Given the description of an element on the screen output the (x, y) to click on. 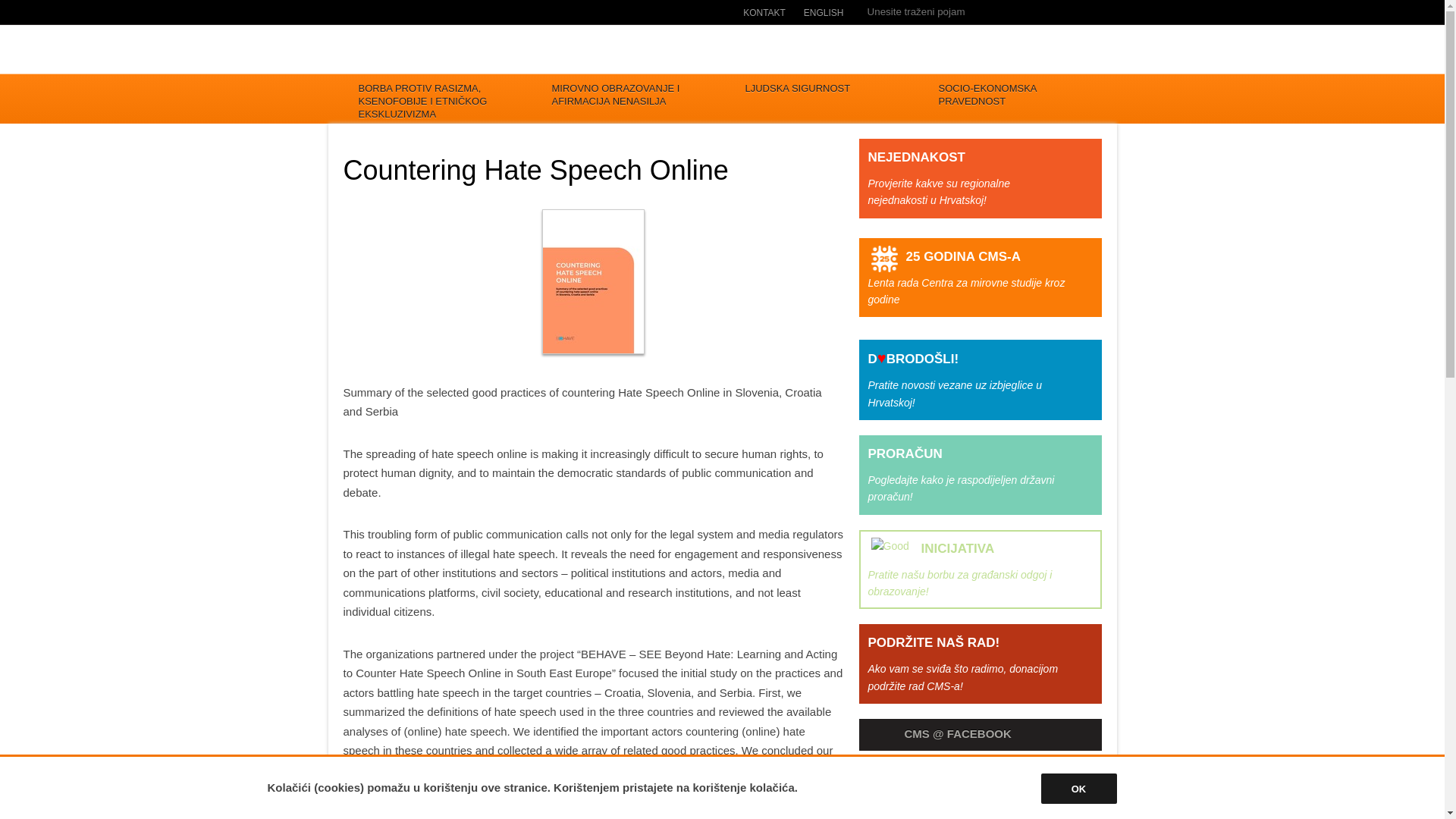
SOCIO-EKONOMSKA PRAVEDNOST (1019, 98)
KONTAKT (764, 12)
NOVOSTI (664, 48)
O NAMA (567, 48)
MULTIMEDIJA (774, 48)
LJUDSKA SIGURNOST (826, 98)
CMS - Centar za mirovne studije (431, 36)
IZJAVE ZA JAVNOST (912, 48)
MIROVNO OBRAZOVANJE I AFIRMACIJA NENASILJA (633, 98)
ENGLISH (823, 12)
